Given the description of an element on the screen output the (x, y) to click on. 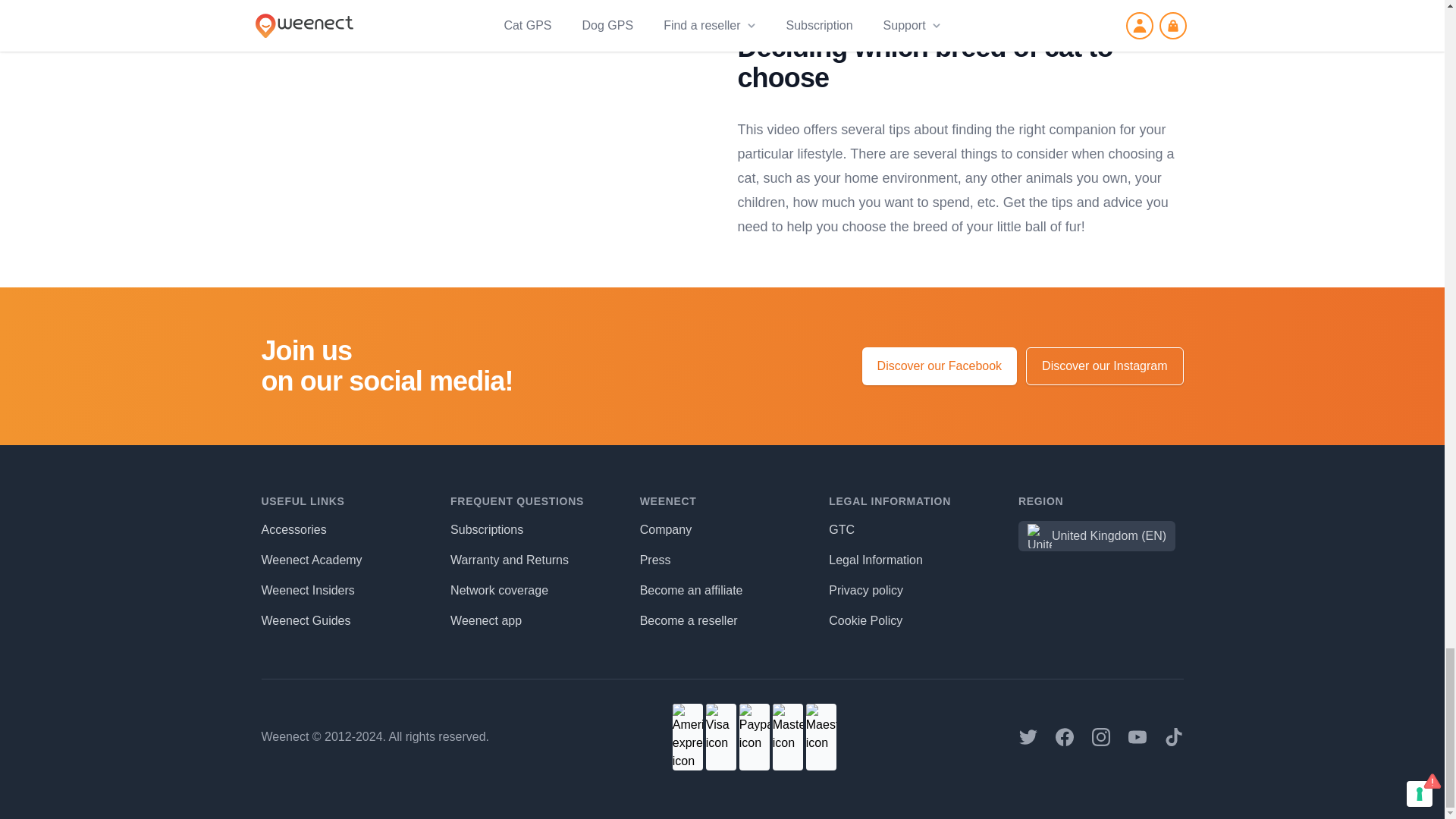
Company (665, 529)
Warranty and Returns (509, 559)
Subscriptions (485, 529)
Weenect Academy (310, 559)
Discover our Facebook (939, 365)
Network coverage (498, 590)
Discover our Instagram (1104, 365)
Weenect Guides (305, 620)
Weenect Insiders (306, 590)
Weenect app (485, 620)
Accessories (293, 529)
